Given the description of an element on the screen output the (x, y) to click on. 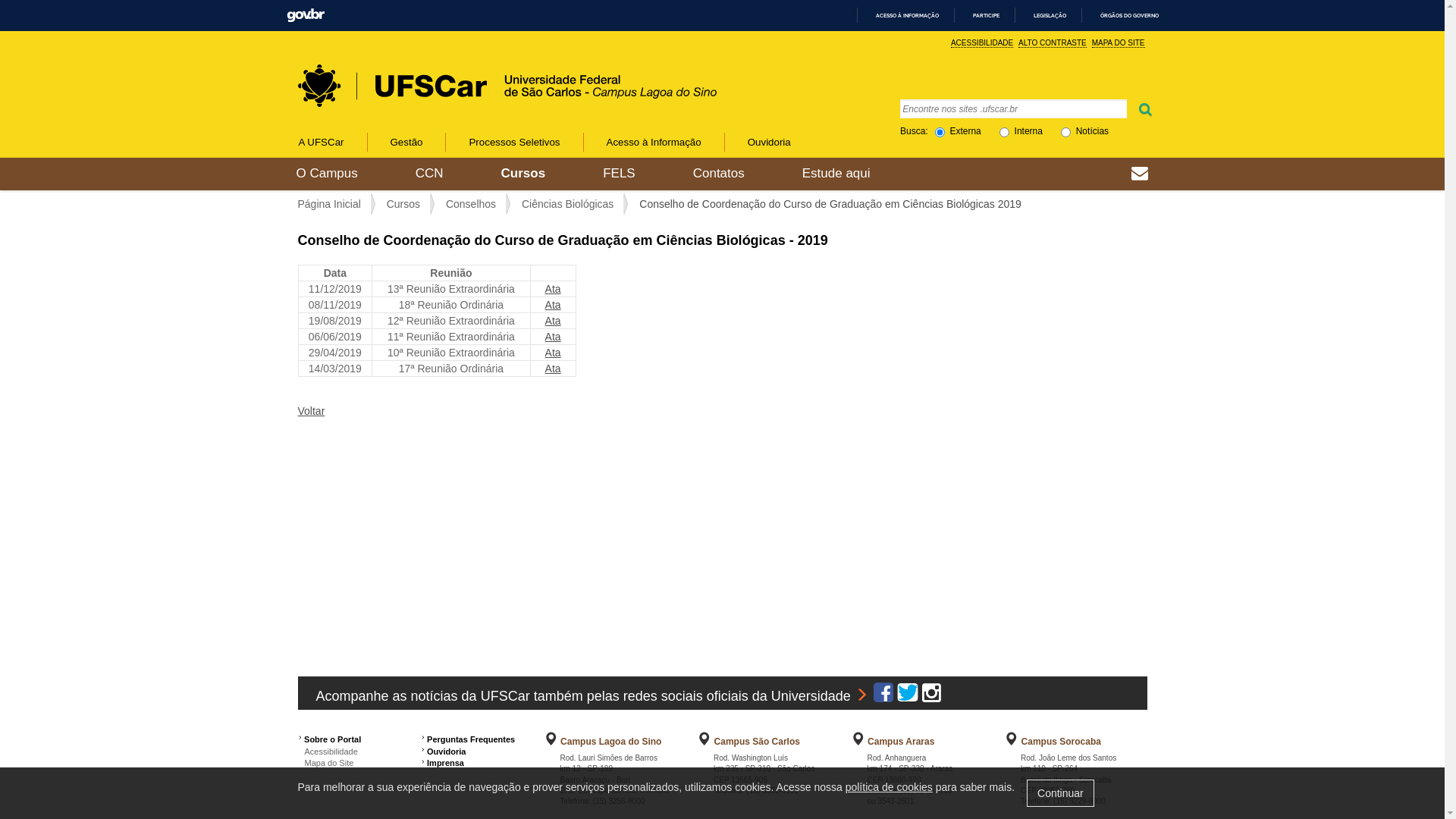
Ata Element type: text (553, 320)
ACESSIBILIDADE Element type: text (981, 42)
WEBmail Element type: hover (1139, 175)
Ata Element type: text (553, 352)
Consulte Element type: text (654, 790)
ALTO CONTRASTE Element type: text (1052, 42)
PARTICIPE Element type: text (979, 15)
Ata Element type: text (553, 336)
Facebook UFSCar Oficial Element type: hover (883, 695)
FELS Element type: text (619, 173)
Ouvidoria Element type: text (445, 751)
Estude aqui Element type: text (836, 173)
Encontre nos sites .ufscar.br Element type: hover (1013, 108)
Ata Element type: text (553, 368)
Contatos Element type: text (718, 173)
Acessibilidade Element type: text (327, 751)
Continuar Element type: text (1060, 793)
Voltar Element type: text (310, 410)
Instagram UFSCar Oficial Element type: hover (931, 695)
Campus Lagoa do Sino Element type: text (610, 741)
Ata Element type: text (553, 304)
O Campus Element type: text (325, 173)
UFSCar - Campus Lagoa do Sino Element type: hover (448, 70)
A UFSCar Element type: text (330, 141)
Processos Seletivos Element type: text (513, 141)
Campus Araras Element type: text (900, 741)
Ata Element type: text (553, 288)
Imprensa Element type: text (445, 762)
Perguntas Frequentes Element type: text (470, 738)
UFSCar - Campus Lagoa do Sino Element type: hover (506, 85)
Cursos Element type: text (403, 203)
Mapa do Site Element type: text (325, 762)
Ouvidoria Element type: text (768, 141)
Twitter UFSCar Oficial Element type: hover (907, 695)
Campus Sorocaba Element type: text (1061, 741)
Cursos Element type: text (523, 173)
GOVBR Element type: text (305, 14)
Conselhos Element type: text (470, 203)
MAPA DO SITE Element type: text (1118, 42)
CCN Element type: text (429, 173)
